Given the description of an element on the screen output the (x, y) to click on. 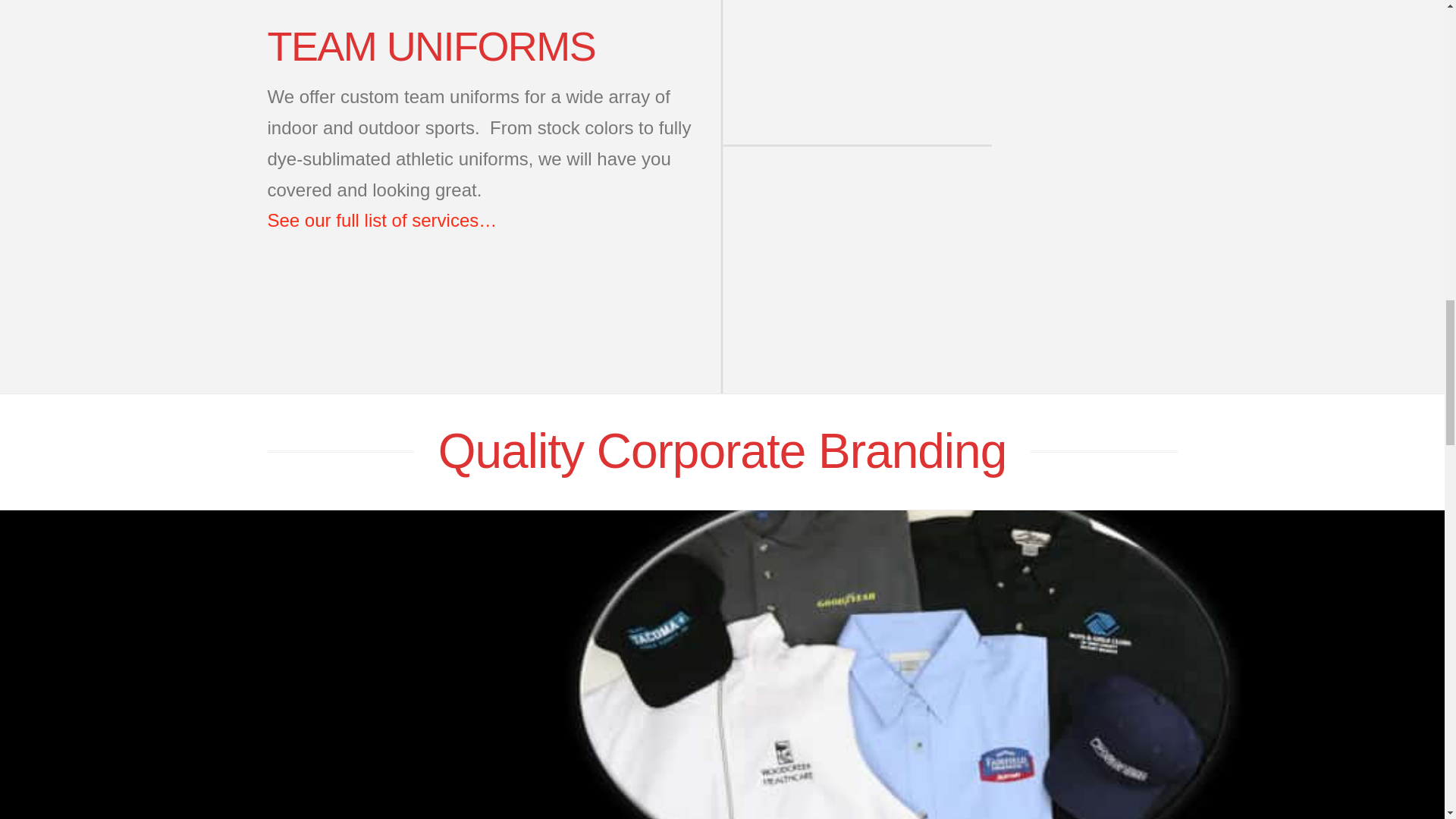
See our full list of services (381, 219)
